Given the description of an element on the screen output the (x, y) to click on. 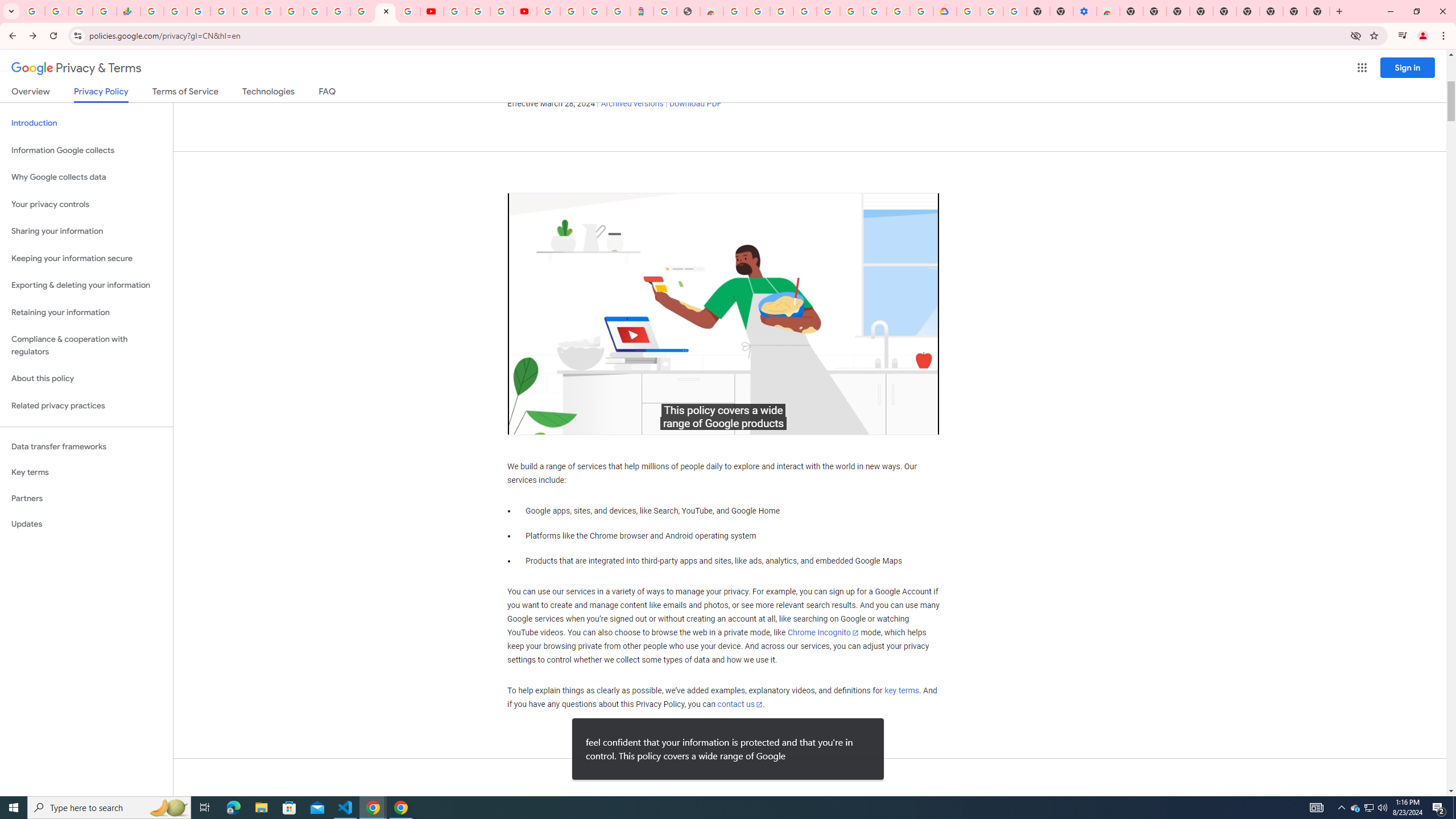
New Tab (1318, 11)
Google Account Help (850, 11)
Settings - Accessibility (1085, 11)
